Given the description of an element on the screen output the (x, y) to click on. 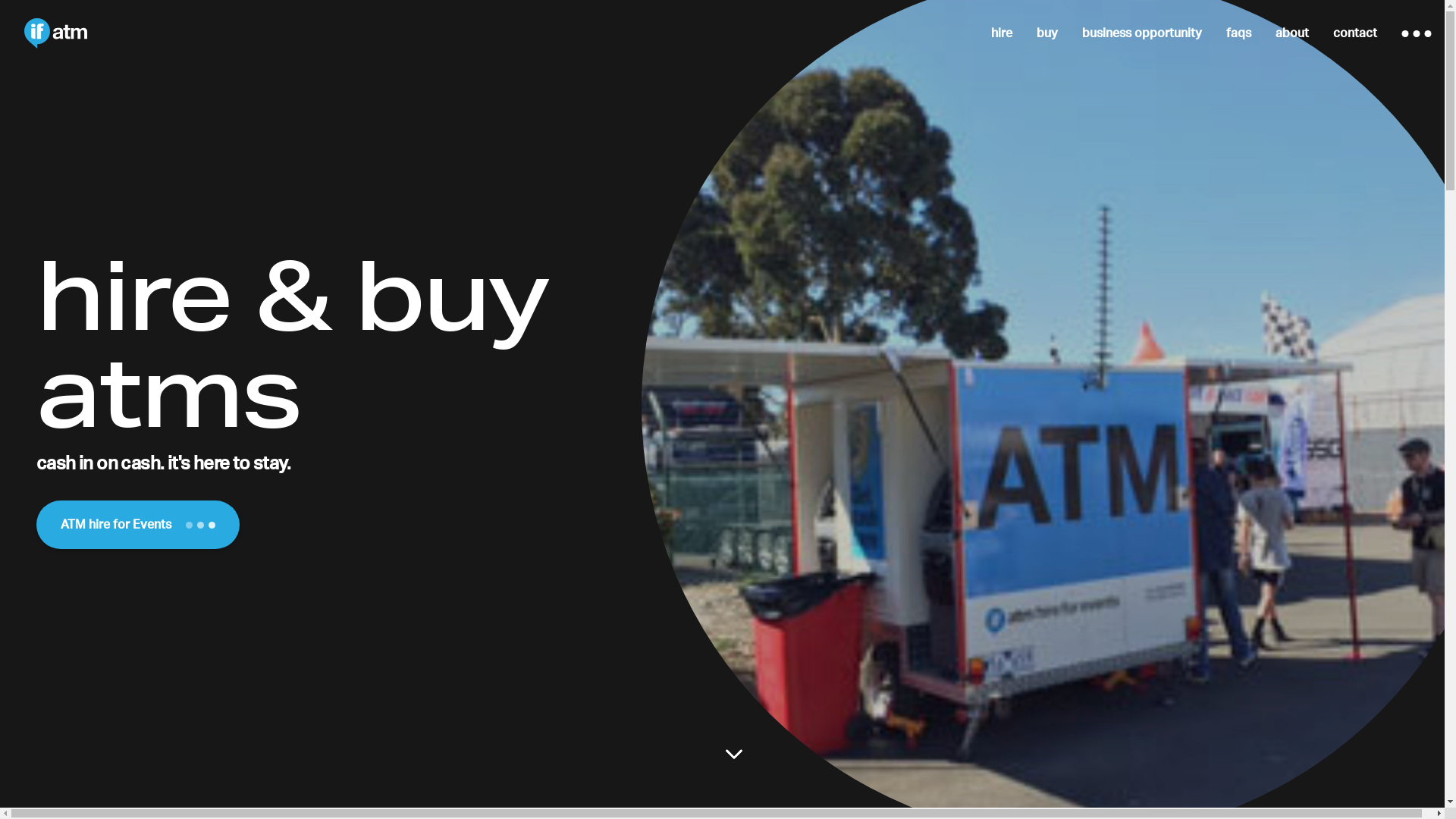
about Element type: text (1291, 33)
faqs Element type: text (1238, 33)
contact Element type: text (1355, 33)
buy Element type: text (1046, 33)
ATM hire for Events Element type: text (137, 524)
business opportunity Element type: text (1141, 33)
hire Element type: text (1001, 33)
